Given the description of an element on the screen output the (x, y) to click on. 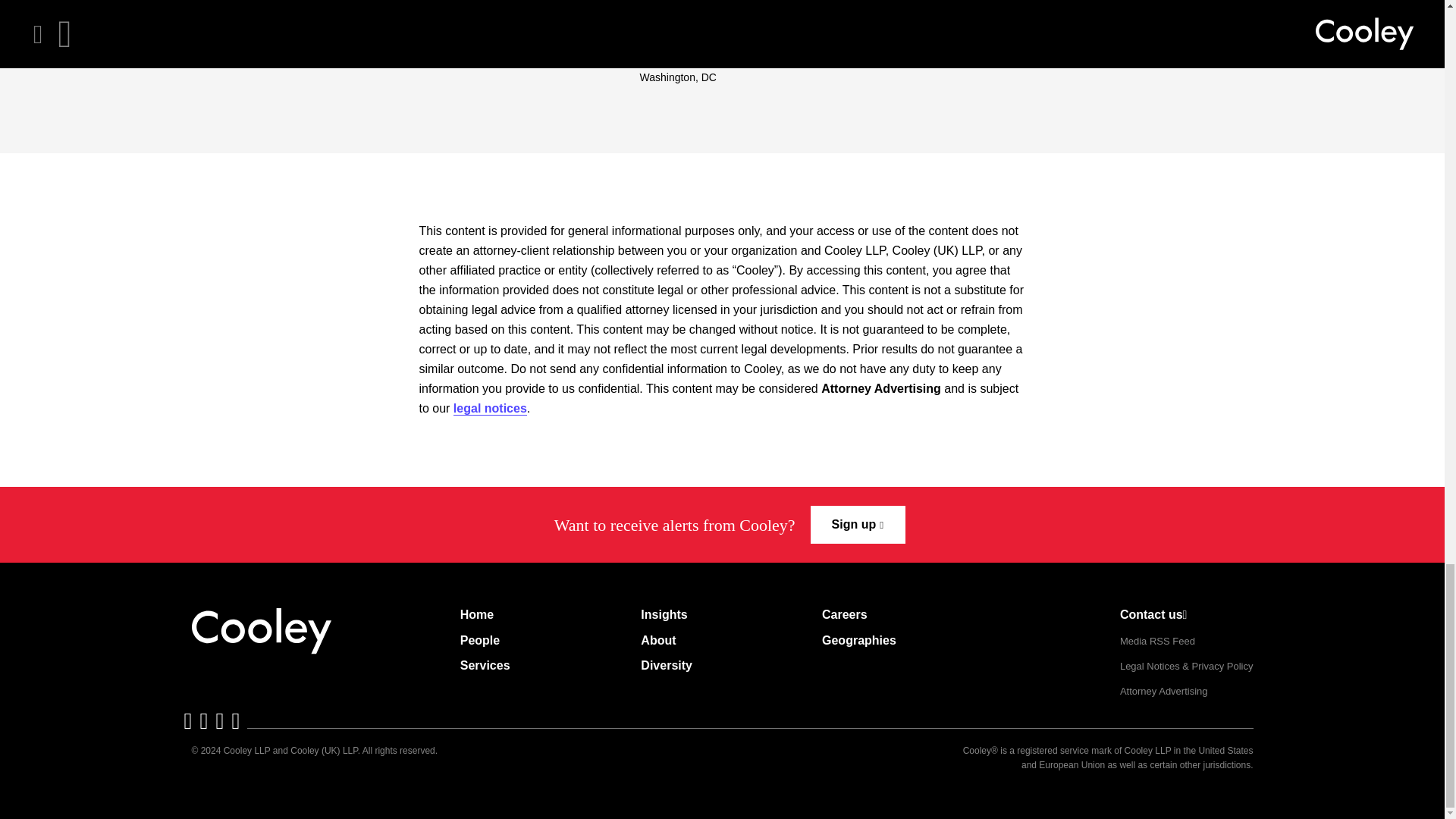
Sign up (857, 524)
Michelle L. Rogers (515, 19)
legal notices (489, 408)
Katherine Brockway Katz (705, 28)
Daniel Grooms (879, 19)
